Given the description of an element on the screen output the (x, y) to click on. 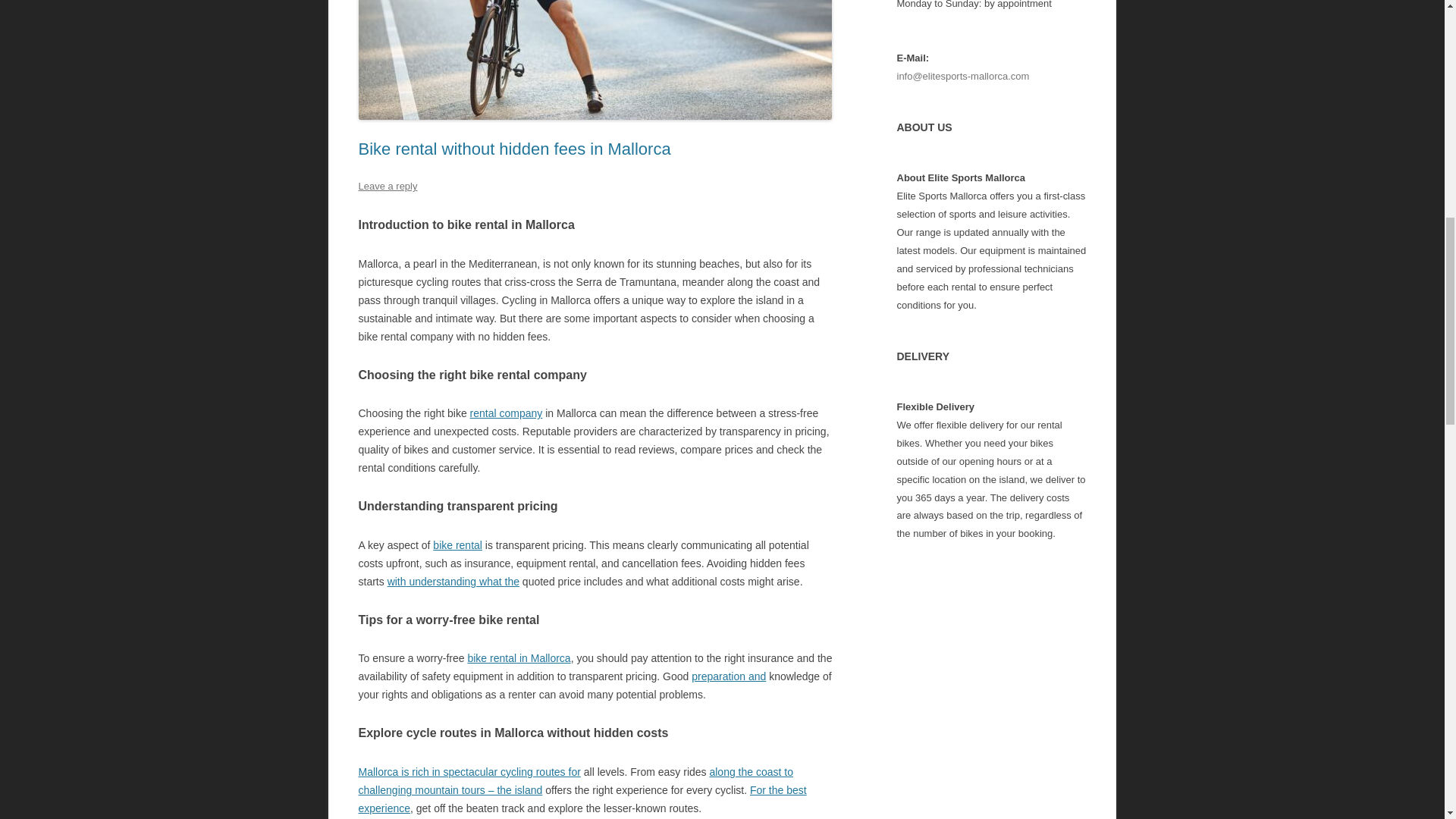
For the best experience (582, 798)
Mallorca is rich in spectacular cycling routes for (468, 771)
preparation and (728, 676)
Bike rental without hidden fees in Mallorca (513, 148)
bike rental in Mallorca (518, 657)
Leave a reply (387, 185)
rental company (506, 413)
with understanding what the (453, 581)
bike rental (456, 544)
